Given the description of an element on the screen output the (x, y) to click on. 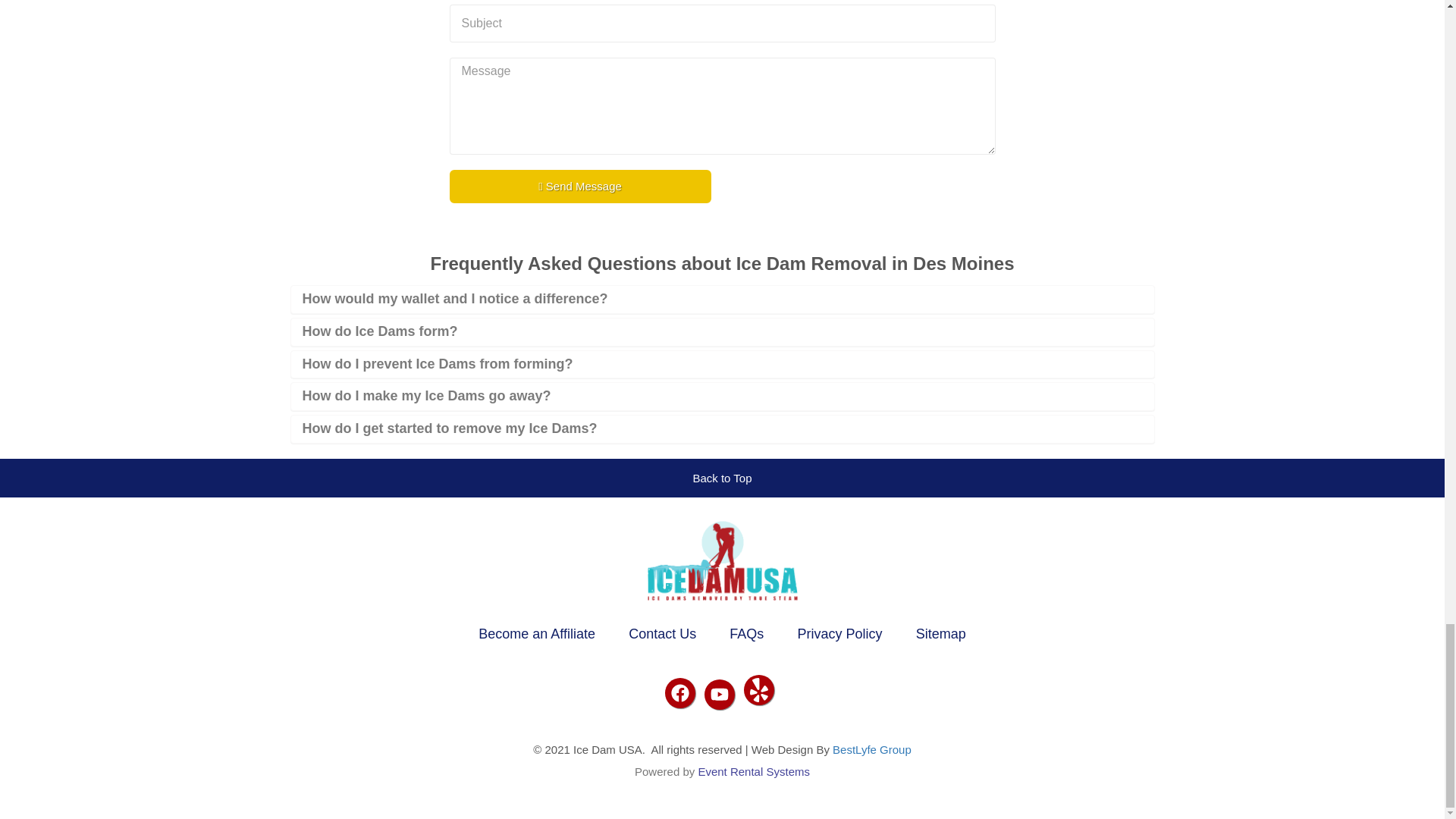
Ice Dam USA Facebook (678, 693)
Ice Dam USA YouTube (718, 694)
Ice Dam USA Yelp (757, 689)
